Given the description of an element on the screen output the (x, y) to click on. 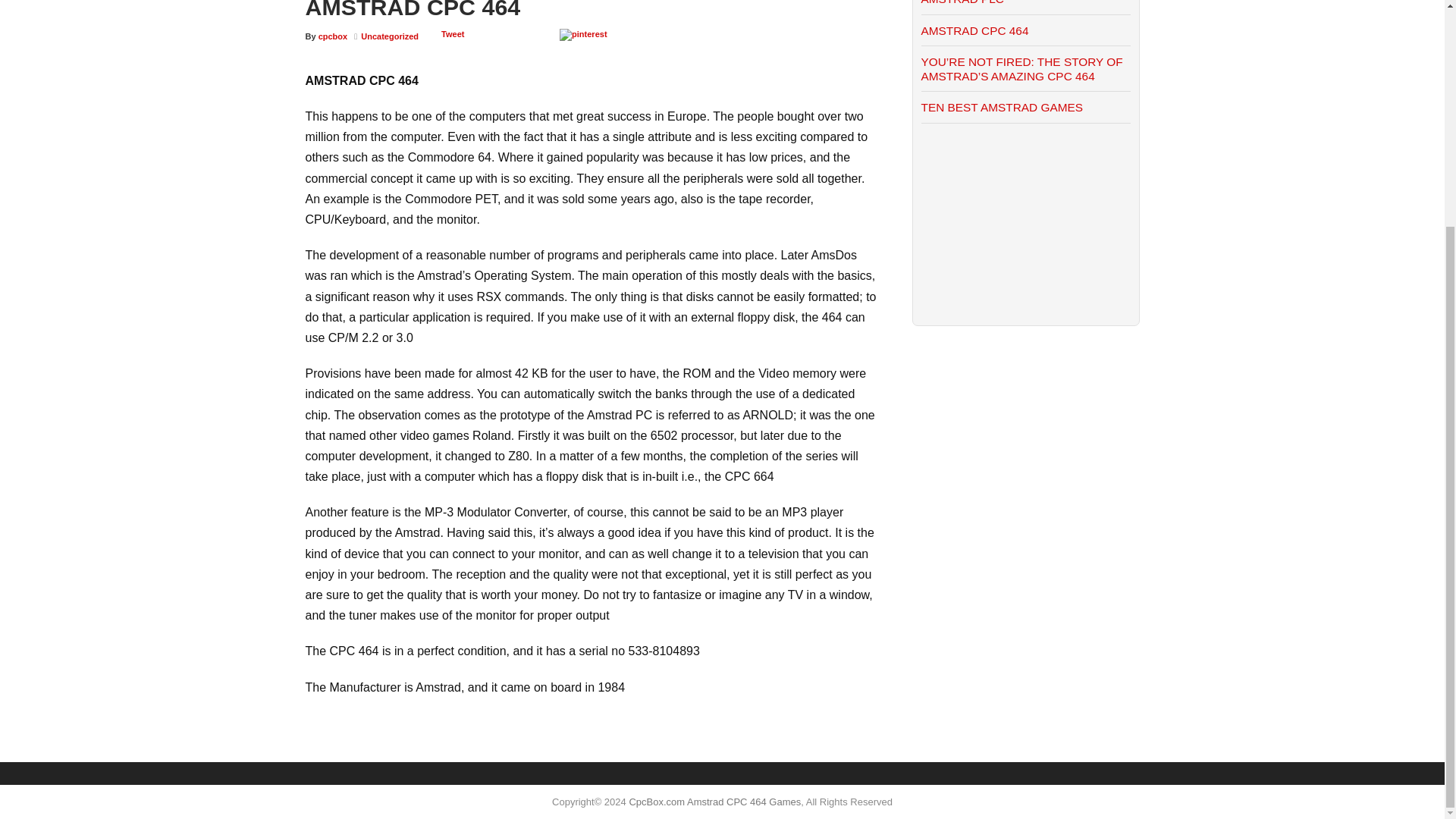
AMSTRAD CPC 464 (973, 30)
cpcbox (332, 35)
TEN BEST AMSTRAD GAMES (1001, 106)
Posts by cpcbox (332, 35)
Tweet (452, 33)
Uncategorized (390, 35)
AMSTRAD PLC (961, 2)
CpcBox.com Amstrad CPC 464 Games (714, 801)
